Given the description of an element on the screen output the (x, y) to click on. 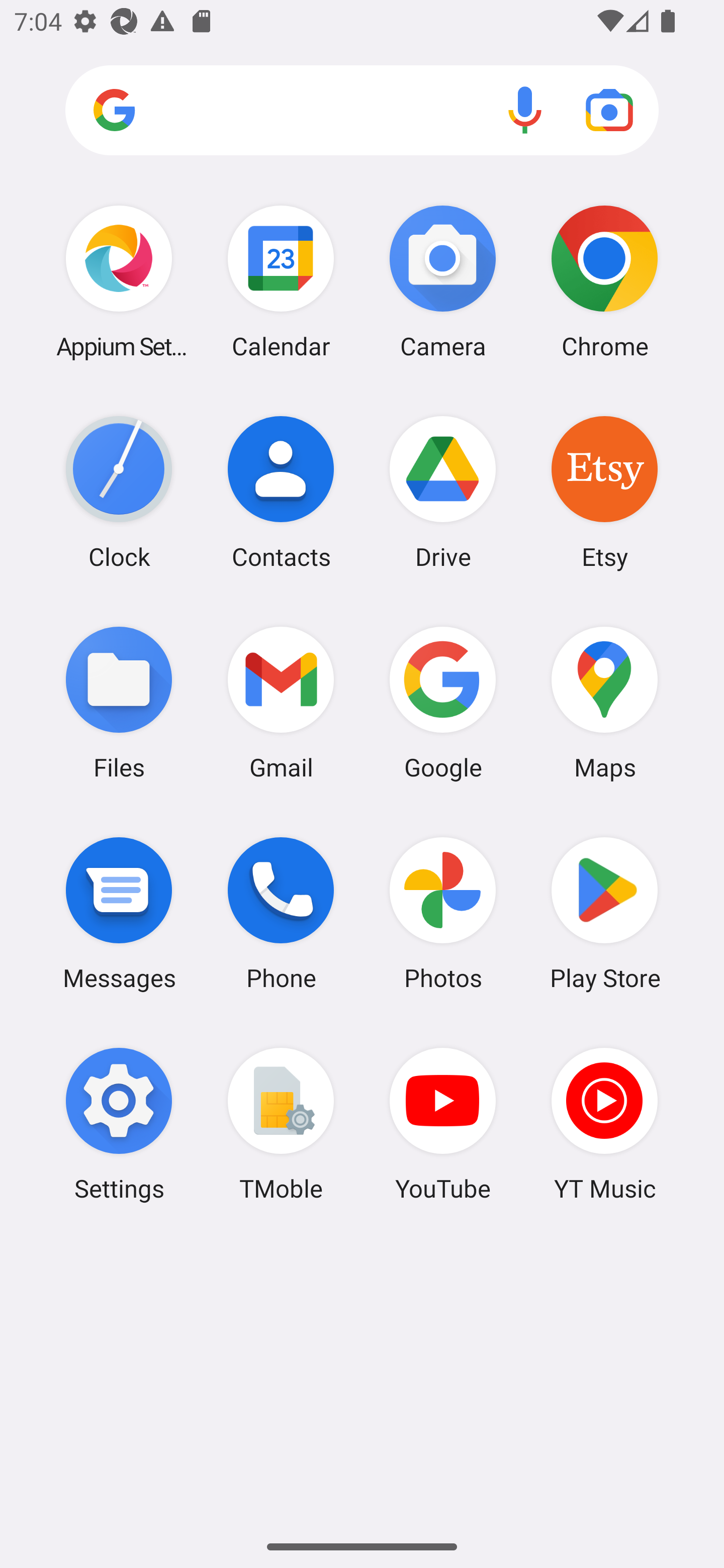
Search apps, web and more (361, 110)
Voice search (524, 109)
Google Lens (608, 109)
Appium Settings (118, 281)
Calendar (280, 281)
Camera (443, 281)
Chrome (604, 281)
Clock (118, 492)
Contacts (280, 492)
Drive (443, 492)
Etsy (604, 492)
Files (118, 702)
Gmail (280, 702)
Google (443, 702)
Maps (604, 702)
Messages (118, 913)
Phone (280, 913)
Photos (443, 913)
Play Store (604, 913)
Settings (118, 1124)
TMoble (280, 1124)
YouTube (443, 1124)
YT Music (604, 1124)
